Given the description of an element on the screen output the (x, y) to click on. 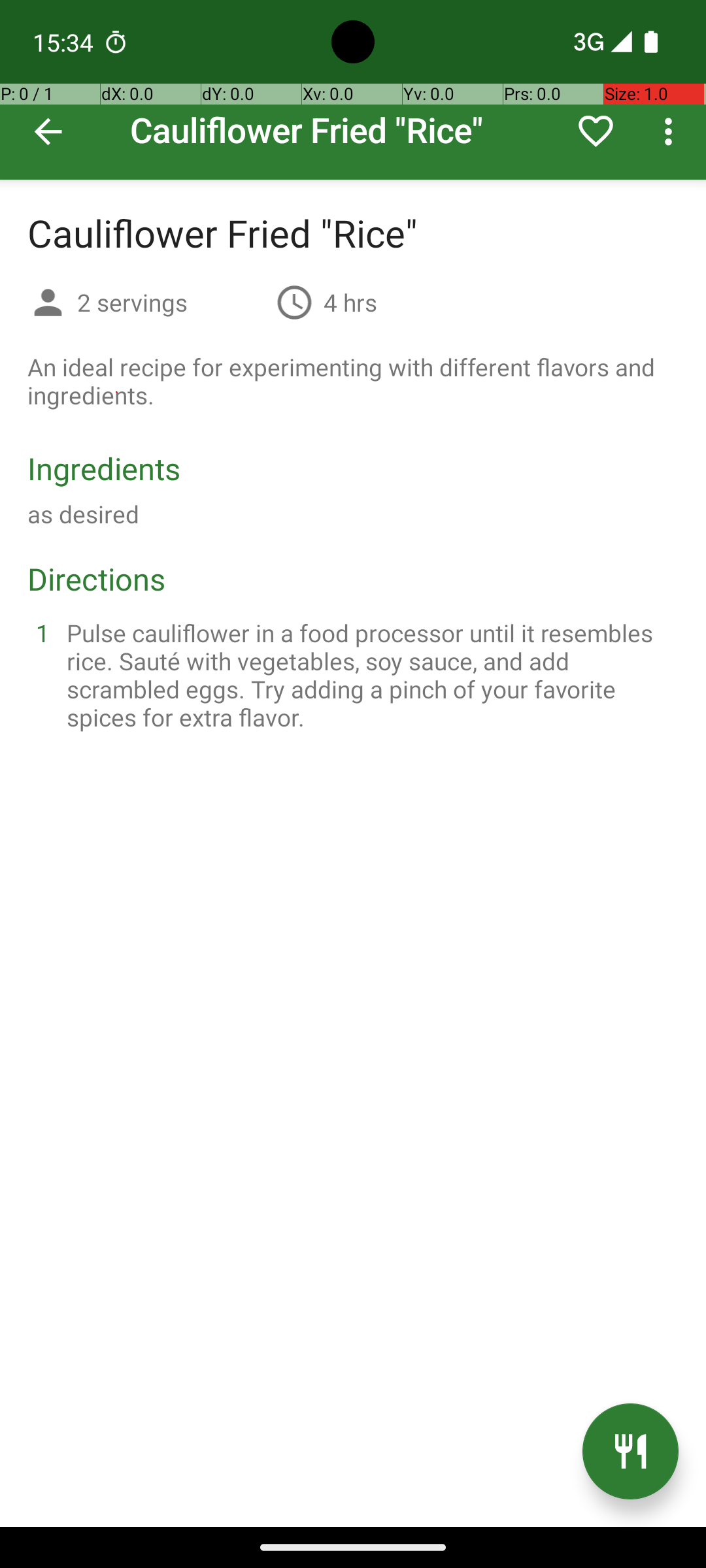
Pulse cauliflower in a food processor until it resembles rice. Sauté with vegetables, soy sauce, and add scrambled eggs. Try adding a pinch of your favorite spices for extra flavor. Element type: android.widget.TextView (368, 674)
